Given the description of an element on the screen output the (x, y) to click on. 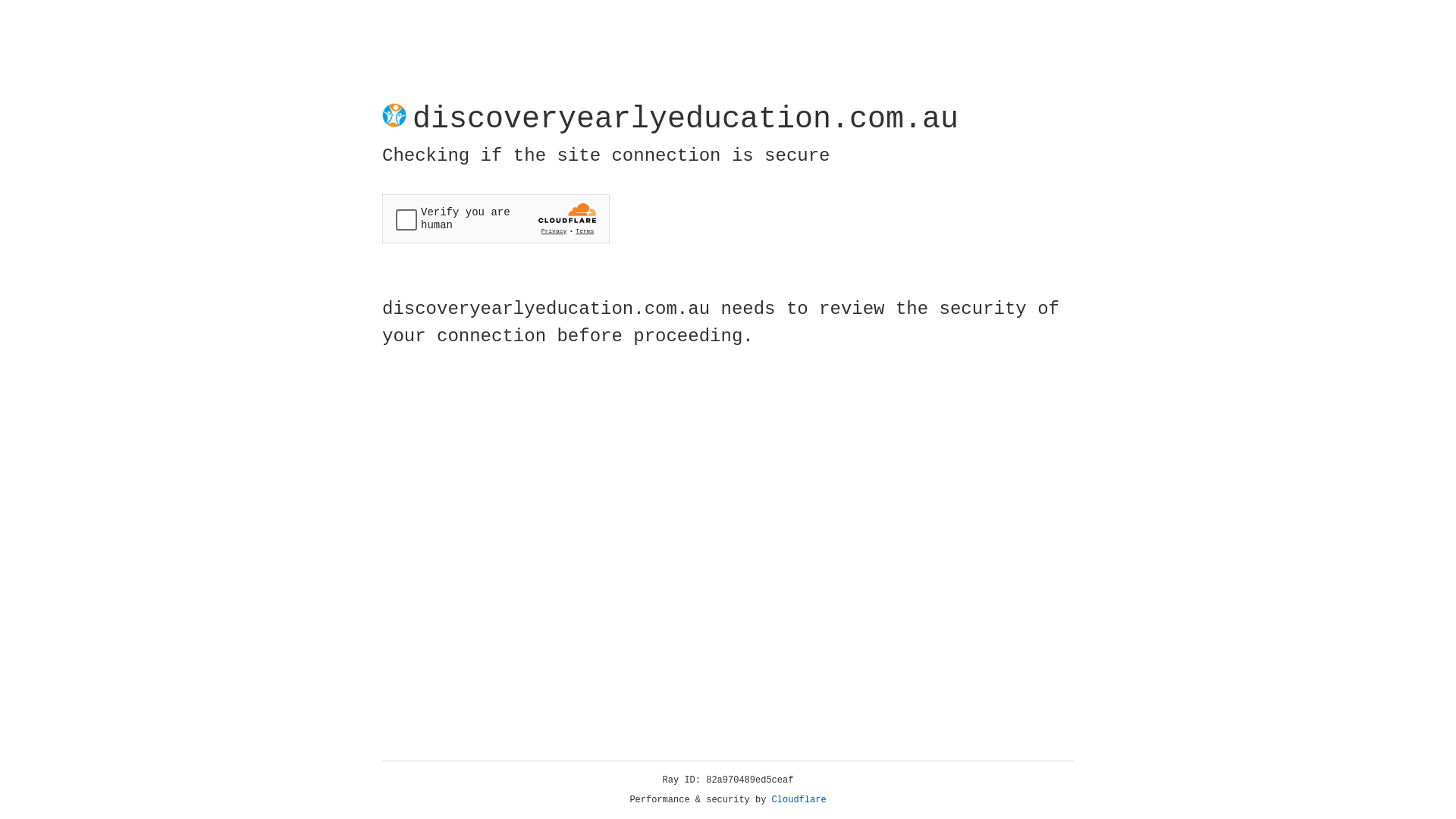
Cloudflare Element type: text (798, 799)
Widget containing a Cloudflare security challenge Element type: hover (495, 218)
